Given the description of an element on the screen output the (x, y) to click on. 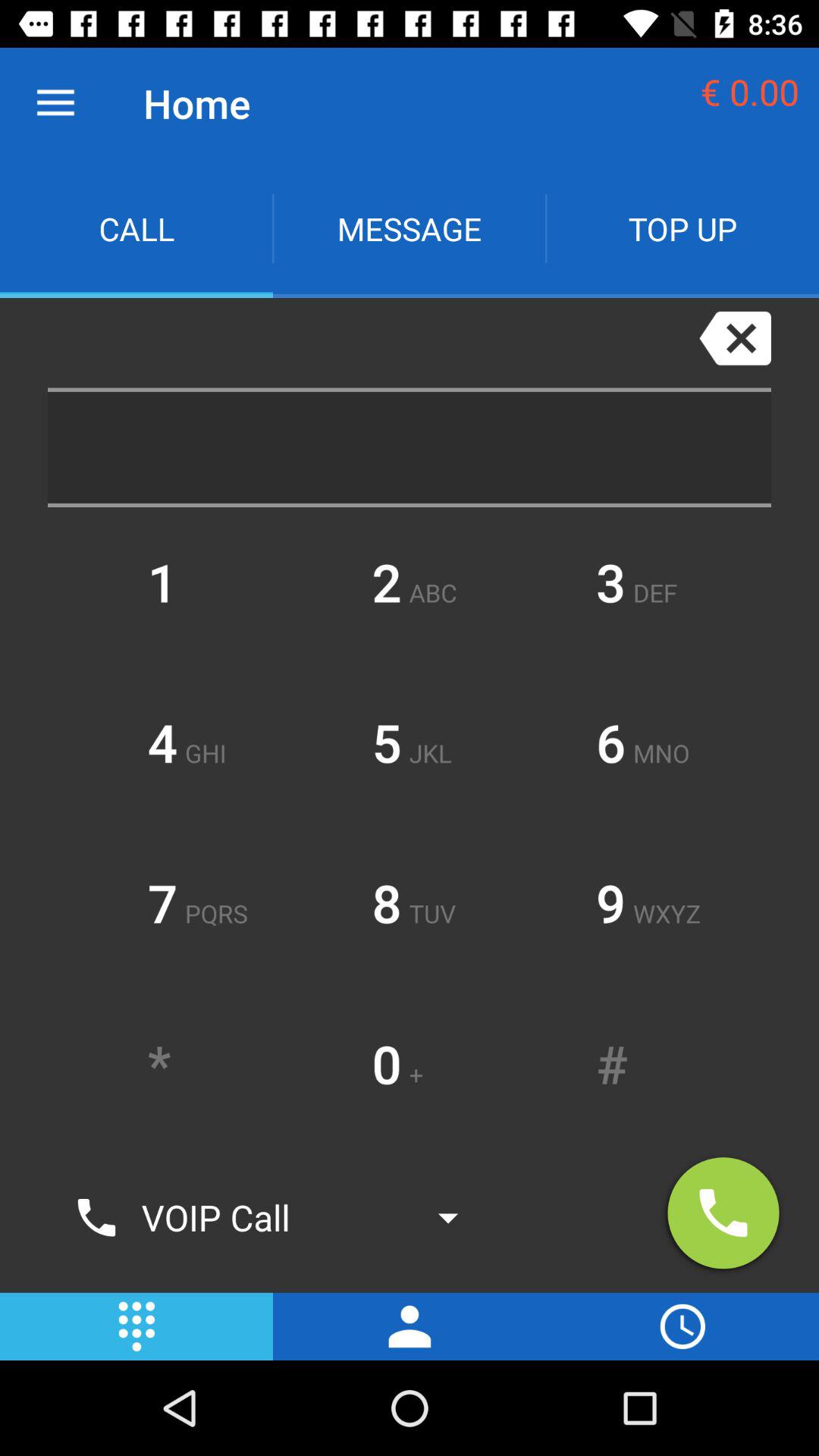
select message app (409, 228)
